Given the description of an element on the screen output the (x, y) to click on. 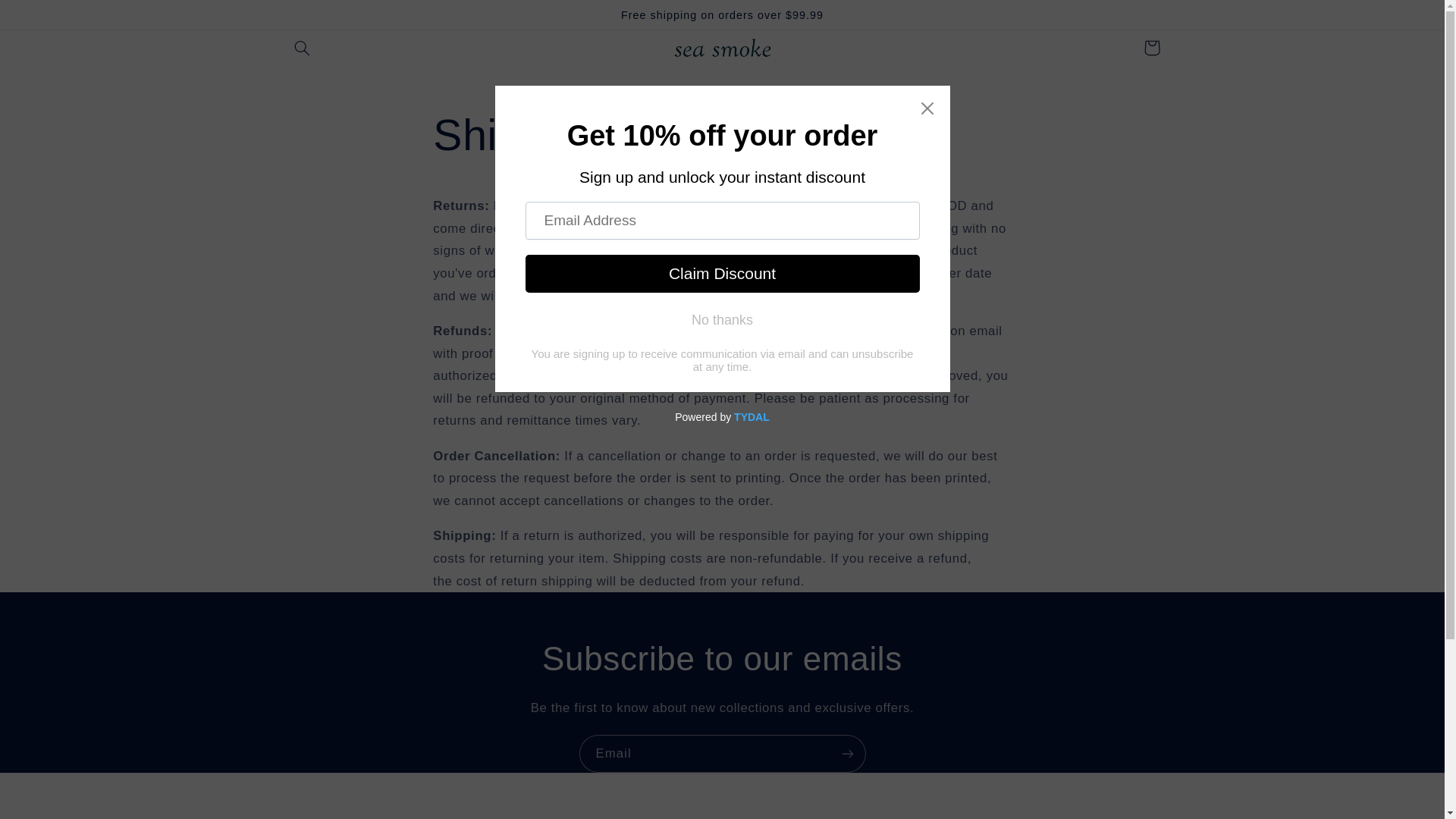
NFTs (880, 90)
Skip to content (48, 18)
Accessories (705, 90)
Apparel (633, 90)
Bumper Stickers (803, 90)
Amazon (572, 90)
Cart (1151, 47)
